Given the description of an element on the screen output the (x, y) to click on. 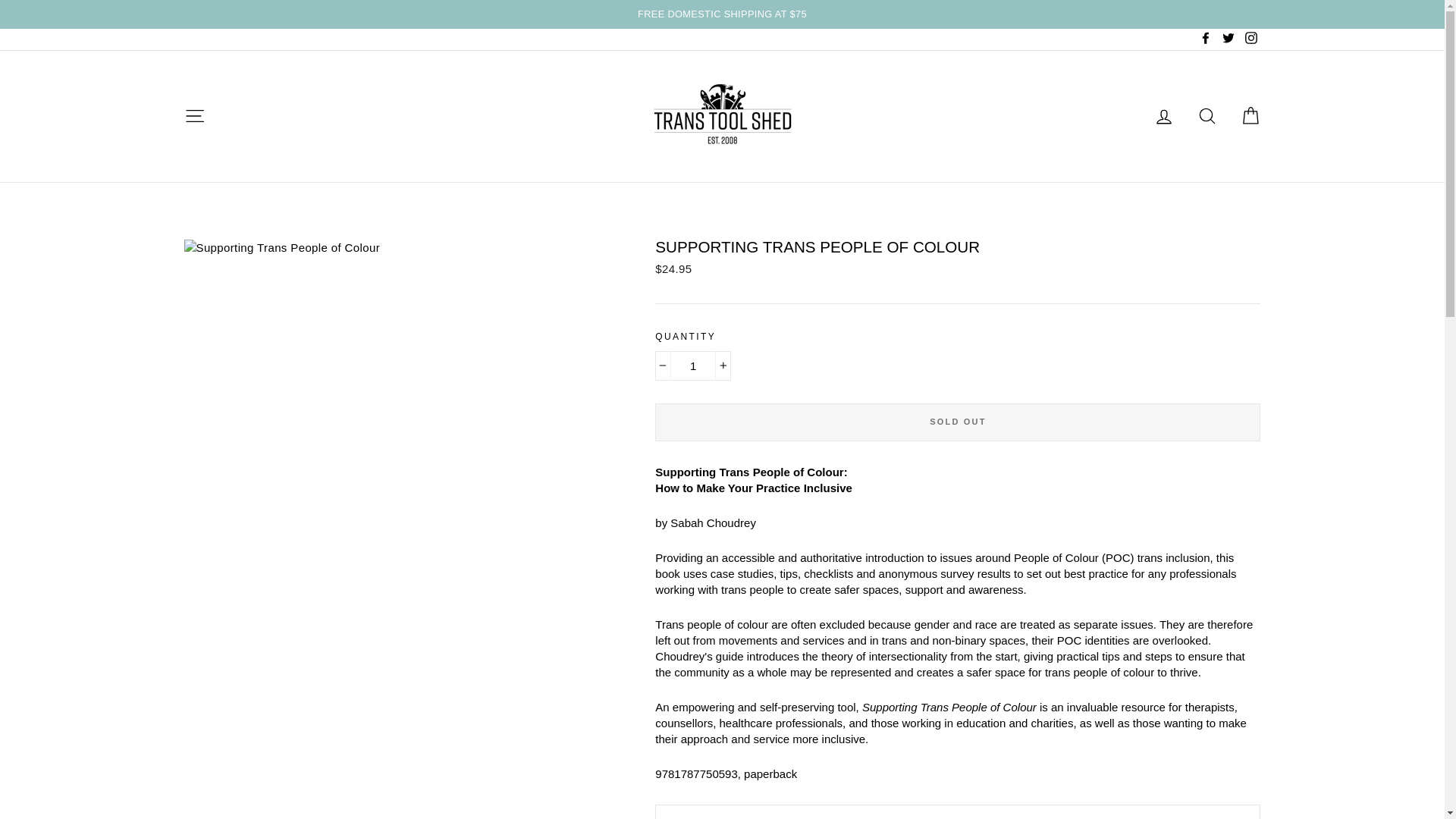
Trans Tool Shed on Instagram (1250, 38)
Trans Tool Shed on Twitter (1228, 38)
1 (692, 365)
Trans Tool Shed on Facebook (1205, 38)
